Given the description of an element on the screen output the (x, y) to click on. 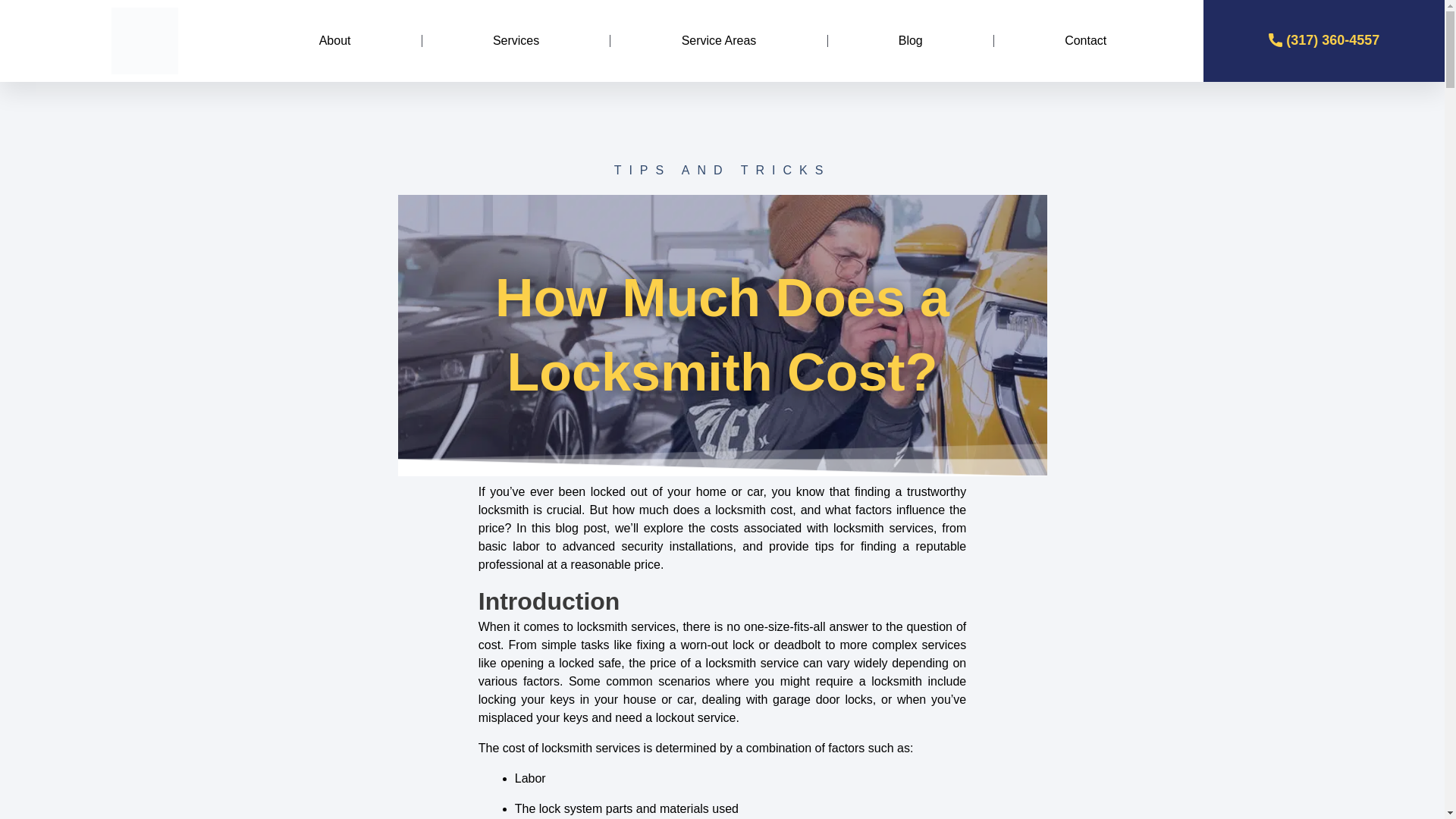
Locksmith near me in Indianapolis IN - Chief Of Locks (144, 40)
About (333, 40)
Services (516, 40)
